Given the description of an element on the screen output the (x, y) to click on. 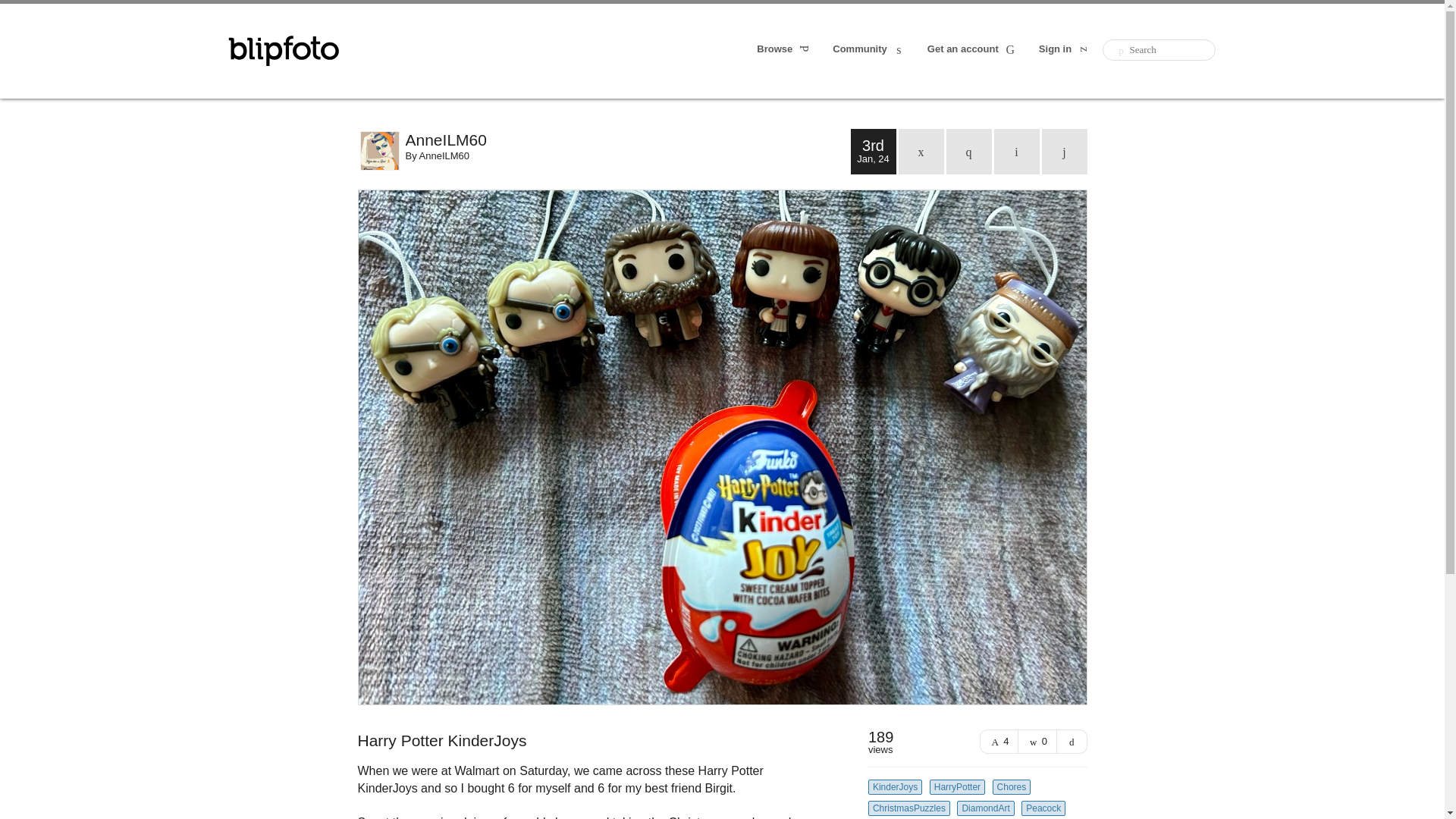
Previous (1015, 151)
AnneILM60 (627, 139)
calendar (920, 151)
DiamondArt (984, 807)
KinderJoys (894, 786)
Browse (783, 50)
ChristmasPuzzles (908, 807)
Next (1064, 151)
AnneILM60 (444, 155)
One year ago (968, 151)
Peacock (1043, 807)
Sign in (1064, 50)
HarryPotter (957, 786)
Community (868, 50)
Show large (1072, 741)
